Given the description of an element on the screen output the (x, y) to click on. 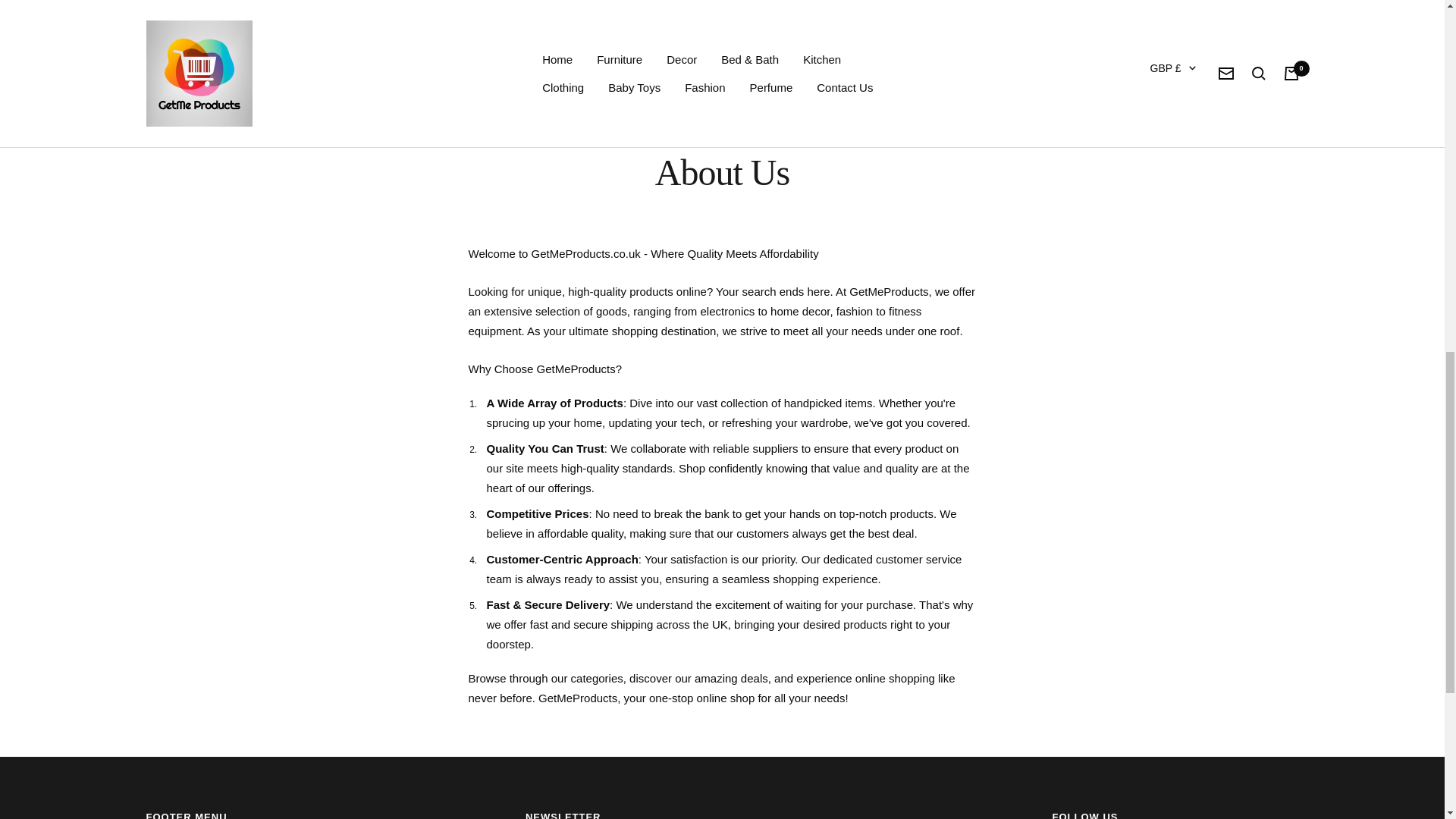
MYR (1157, 590)
MKD (1157, 565)
Clothing (562, 33)
JPY (1157, 490)
Furniture (619, 7)
Fashion (704, 33)
MDL (1157, 540)
ILS (1157, 415)
CHF (1157, 240)
DKK (1157, 290)
Contact Us (844, 33)
Home (556, 7)
KRW (1157, 515)
AMD (1157, 115)
CZK (1157, 265)
